Given the description of an element on the screen output the (x, y) to click on. 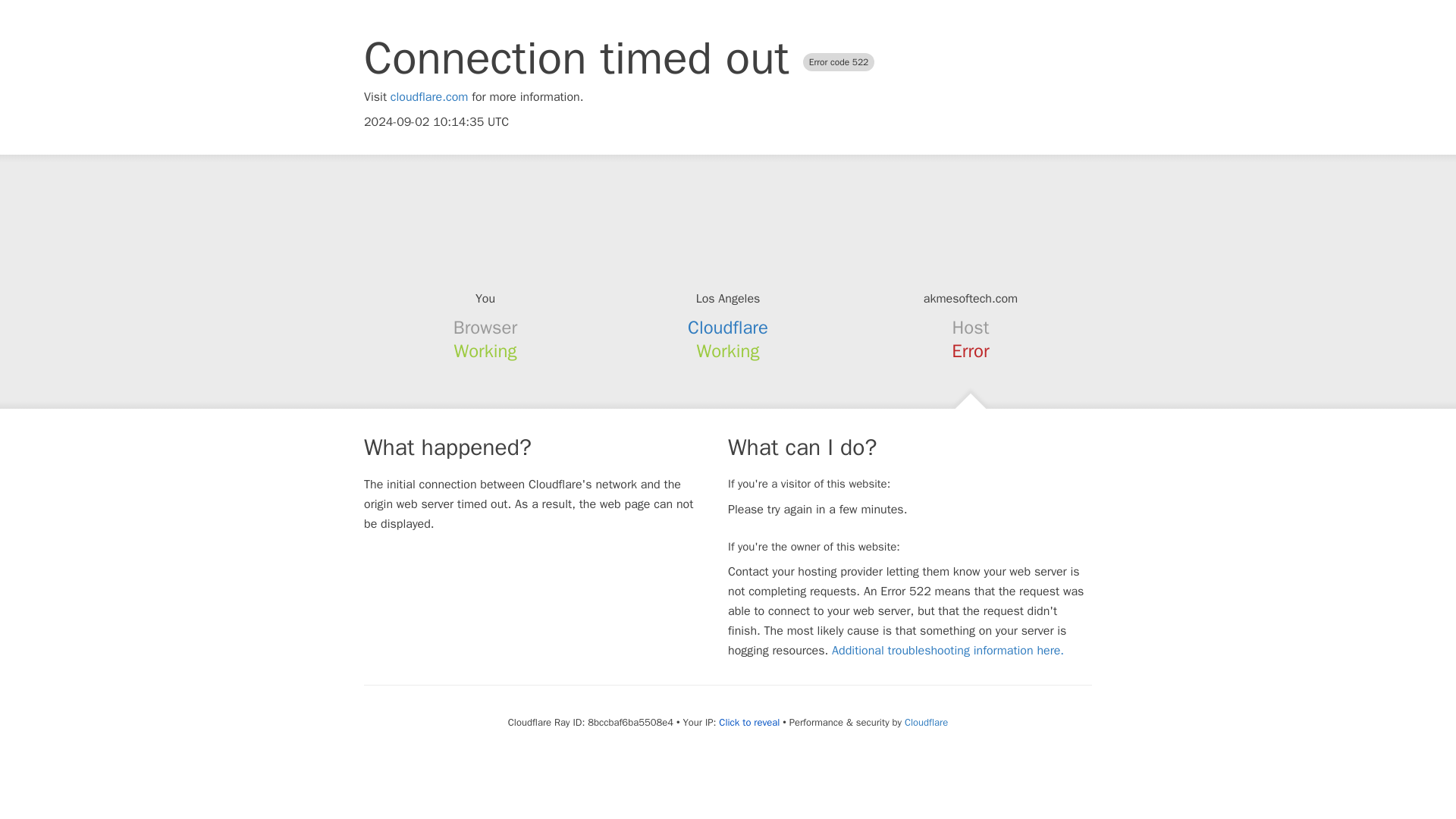
cloudflare.com (429, 96)
Click to reveal (748, 722)
Additional troubleshooting information here. (947, 650)
Cloudflare (727, 327)
Cloudflare (925, 721)
